Given the description of an element on the screen output the (x, y) to click on. 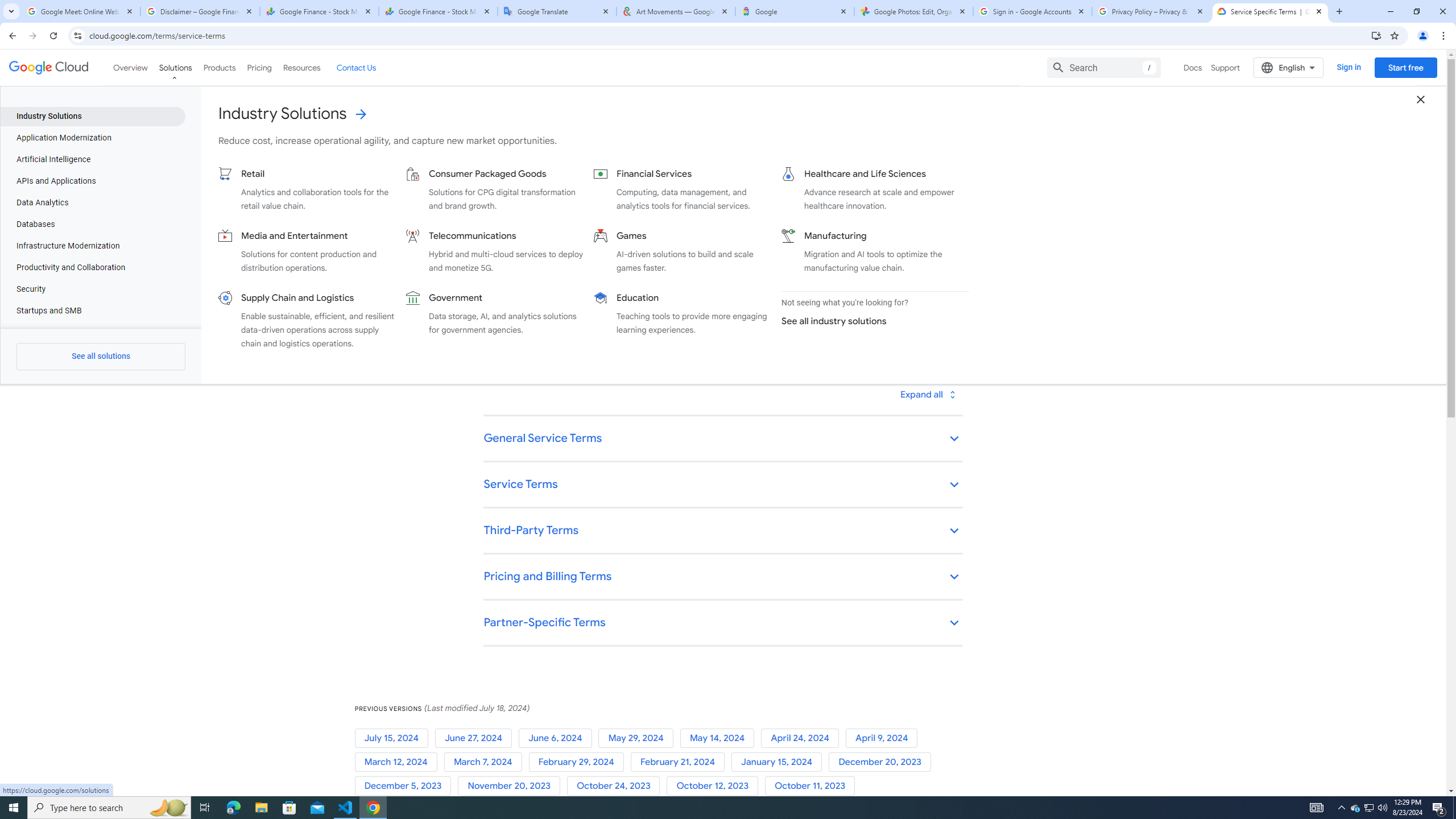
Industry Solutions (92, 116)
Artificial Intelligence (92, 159)
Contact Us (355, 67)
Security (92, 289)
Games AI-driven solutions to build and scale games faster. (682, 251)
June 6, 2024 (558, 737)
Install Google Cloud (1376, 35)
October 12, 2023 (715, 786)
